Given the description of an element on the screen output the (x, y) to click on. 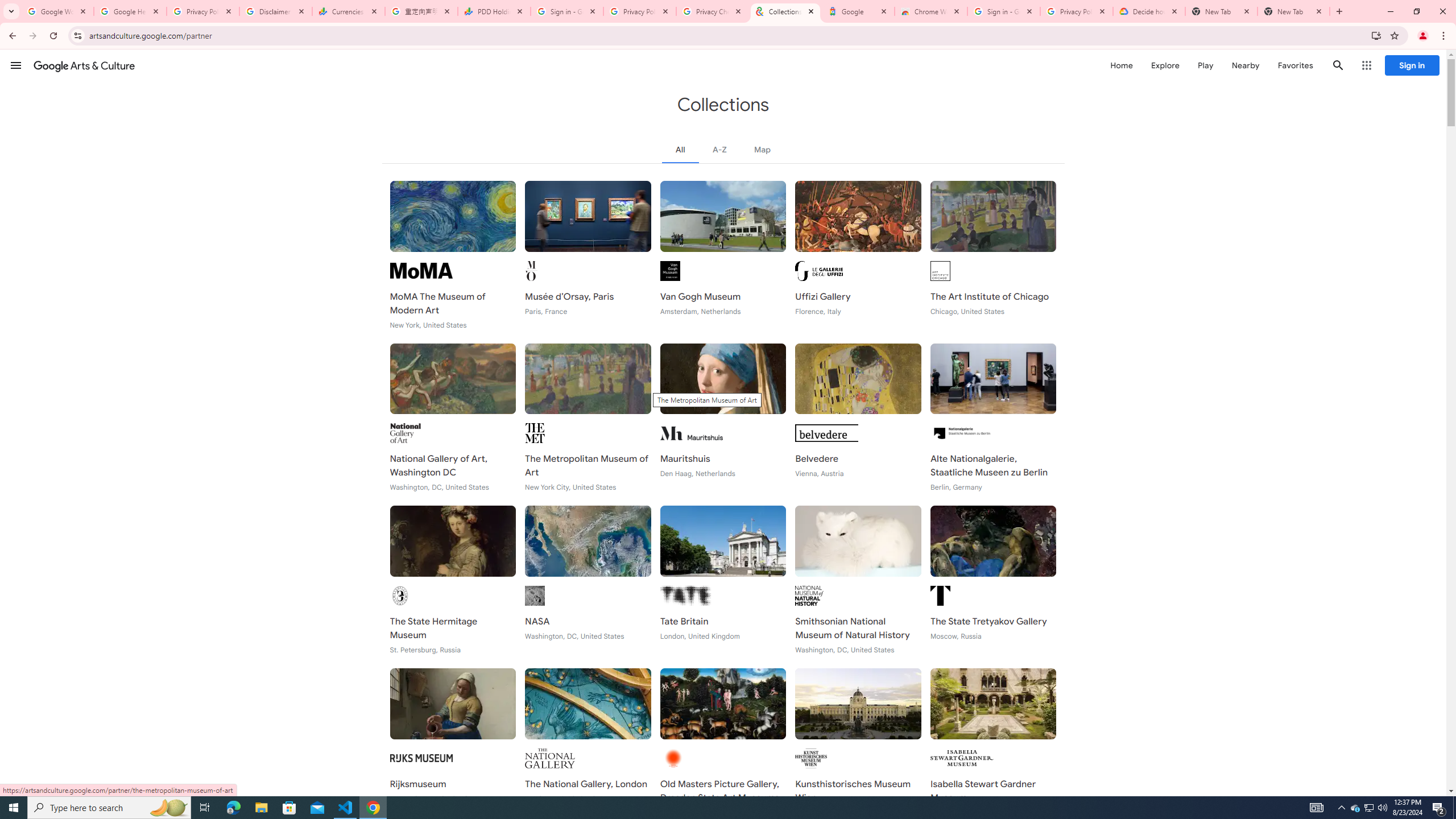
Mauritshuis Den Haag, Netherlands (722, 417)
Home (1120, 65)
NASA Washington, DC, United States (587, 579)
Explore (1164, 65)
The Art Institute of Chicago Chicago, United States (993, 255)
Uffizi Gallery Florence, Italy (857, 255)
Google Workspace Admin Community (57, 11)
A-Z (719, 148)
Sign in - Google Accounts (1003, 11)
